Given the description of an element on the screen output the (x, y) to click on. 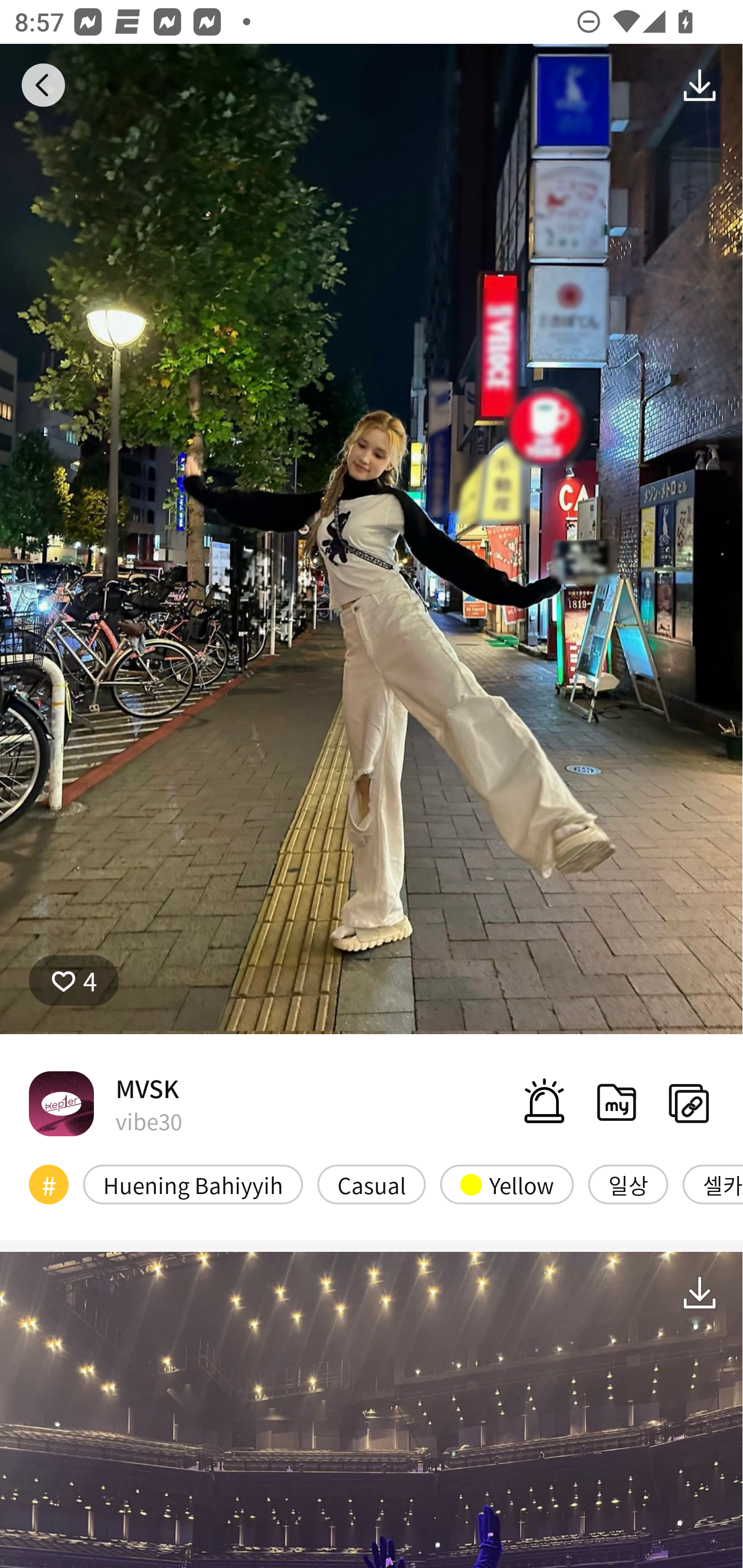
4 (73, 980)
MVSK vibe30 (105, 1102)
Huening Bahiyyih (193, 1184)
Casual (371, 1184)
Yellow (506, 1184)
일상 (627, 1184)
셀카 (712, 1184)
